Given the description of an element on the screen output the (x, y) to click on. 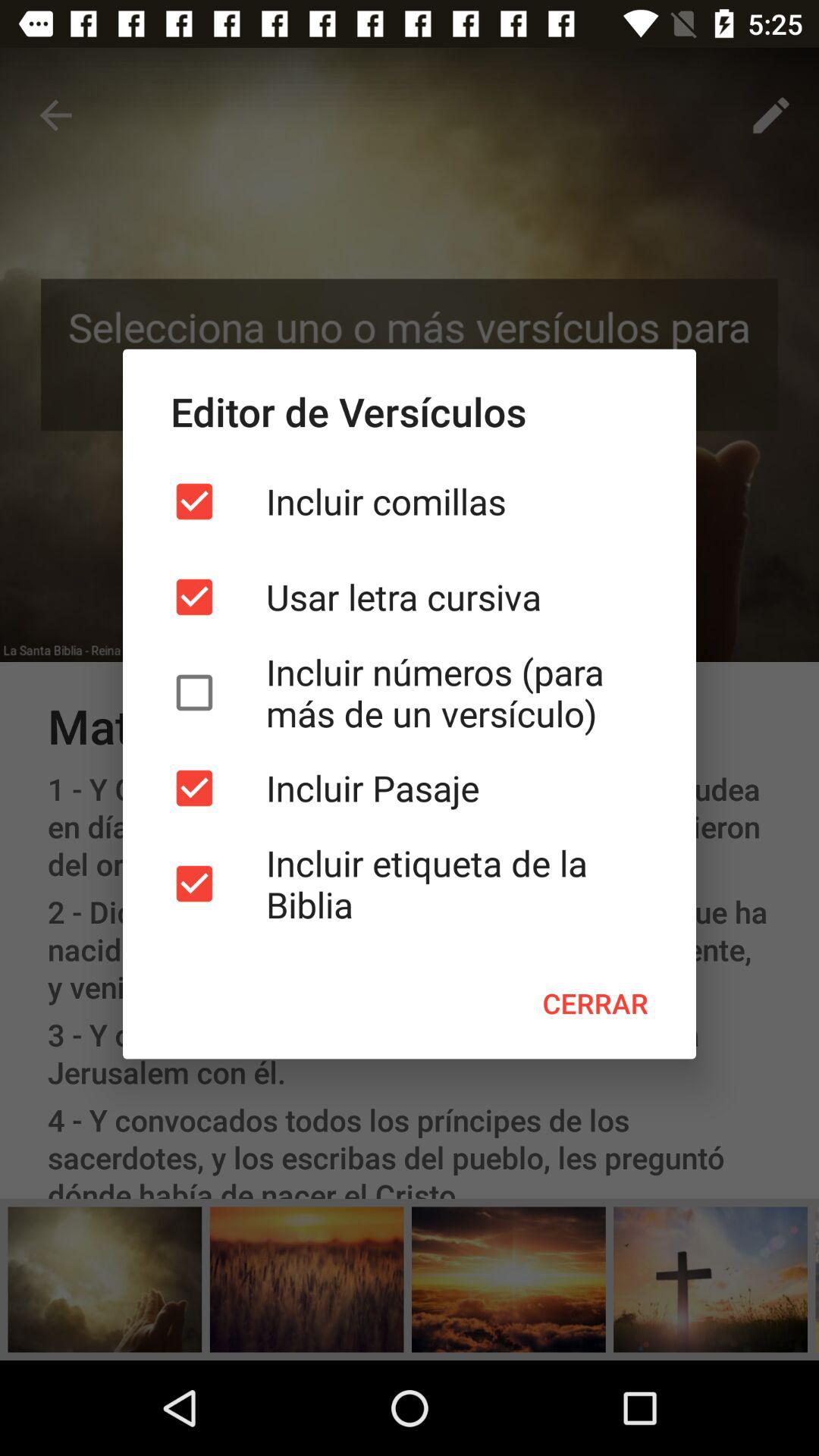
click the cerrar item (595, 1003)
